Given the description of an element on the screen output the (x, y) to click on. 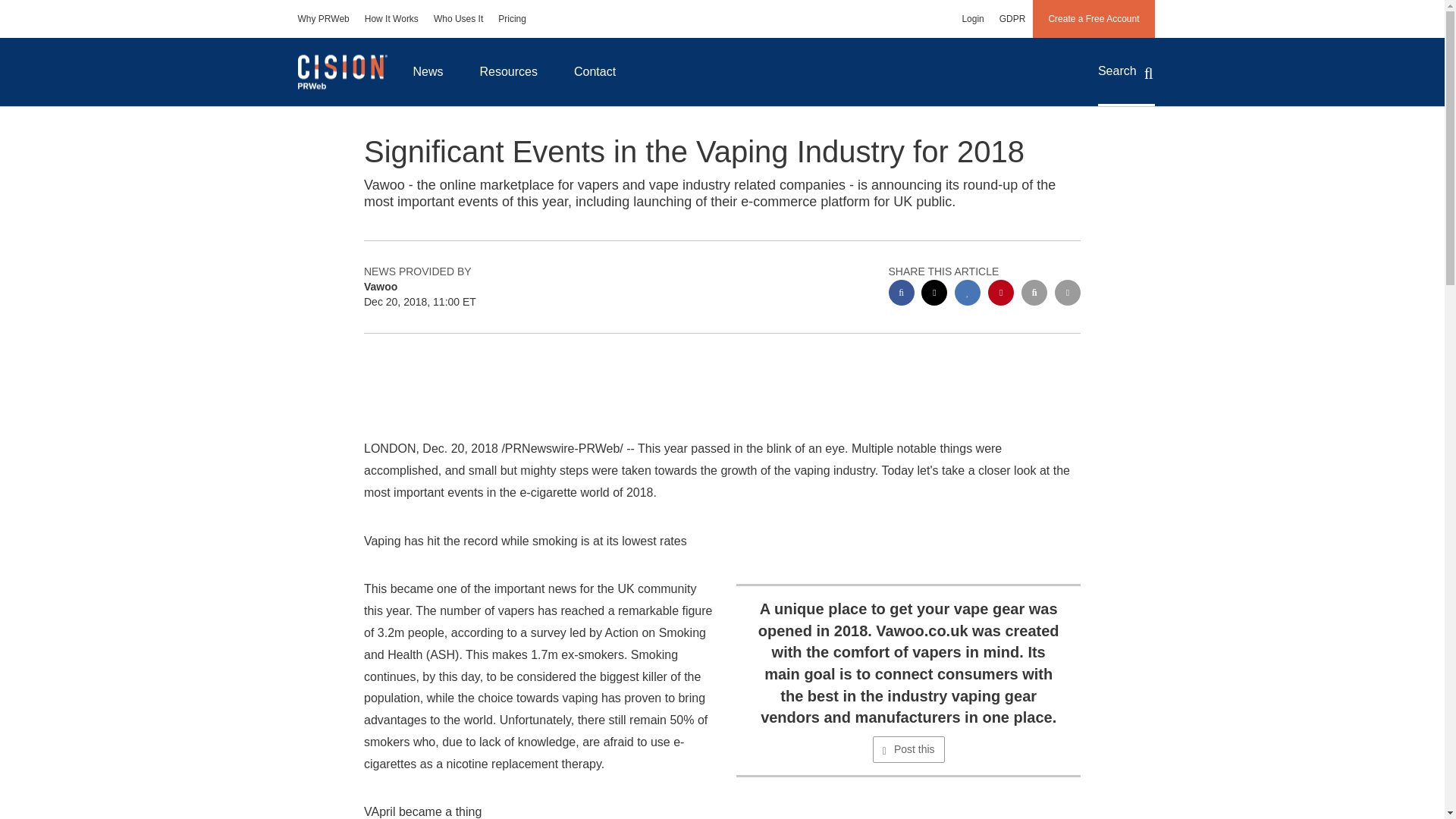
Create a Free Account (1093, 18)
Contact (594, 71)
Why PRWeb (322, 18)
Login (972, 18)
How It Works (391, 18)
News (427, 71)
Who Uses It (458, 18)
GDPR (1012, 18)
Resources (508, 71)
